Given the description of an element on the screen output the (x, y) to click on. 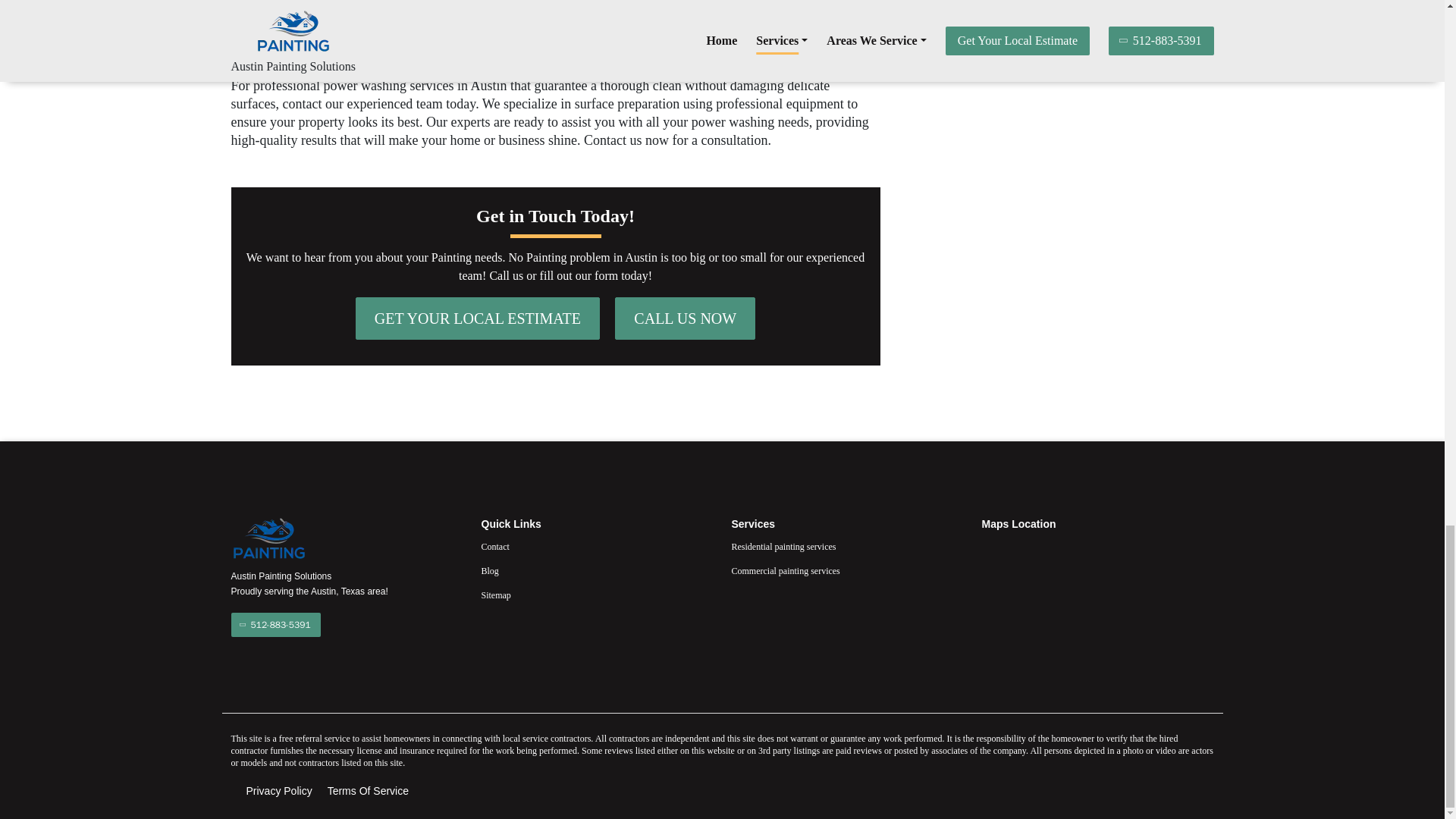
Sitemap (596, 595)
Blog (596, 570)
Residential painting services (846, 546)
Contact (596, 546)
512-883-5391 (275, 624)
CALL US NOW (684, 318)
GET YOUR LOCAL ESTIMATE (477, 318)
